Given the description of an element on the screen output the (x, y) to click on. 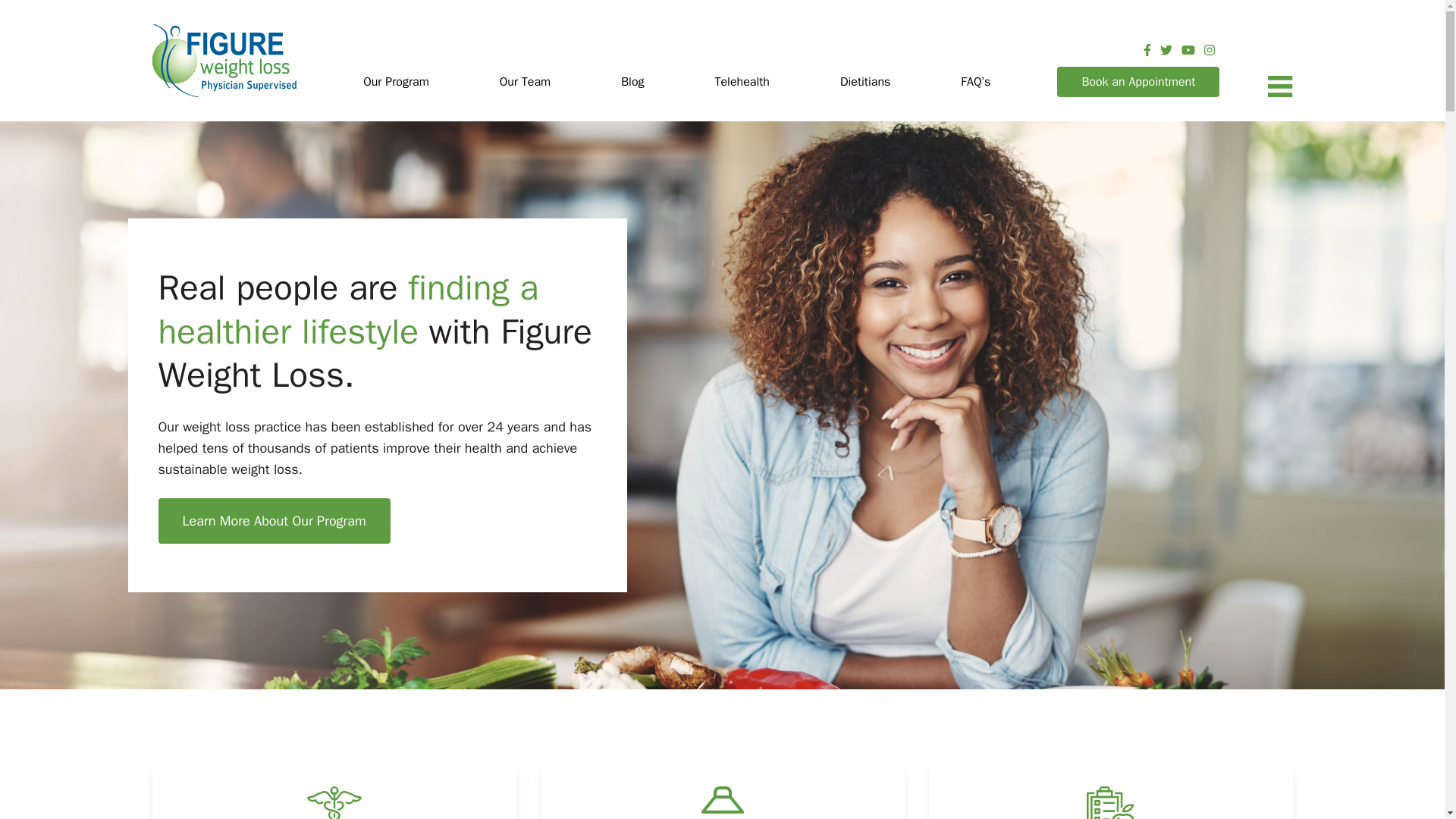
Book an Appointment (1138, 81)
Telehealth (741, 81)
Our Program (395, 81)
Learn More About Our Program (273, 519)
Blog (632, 81)
Dietitians (865, 81)
Our Team (525, 81)
